Given the description of an element on the screen output the (x, y) to click on. 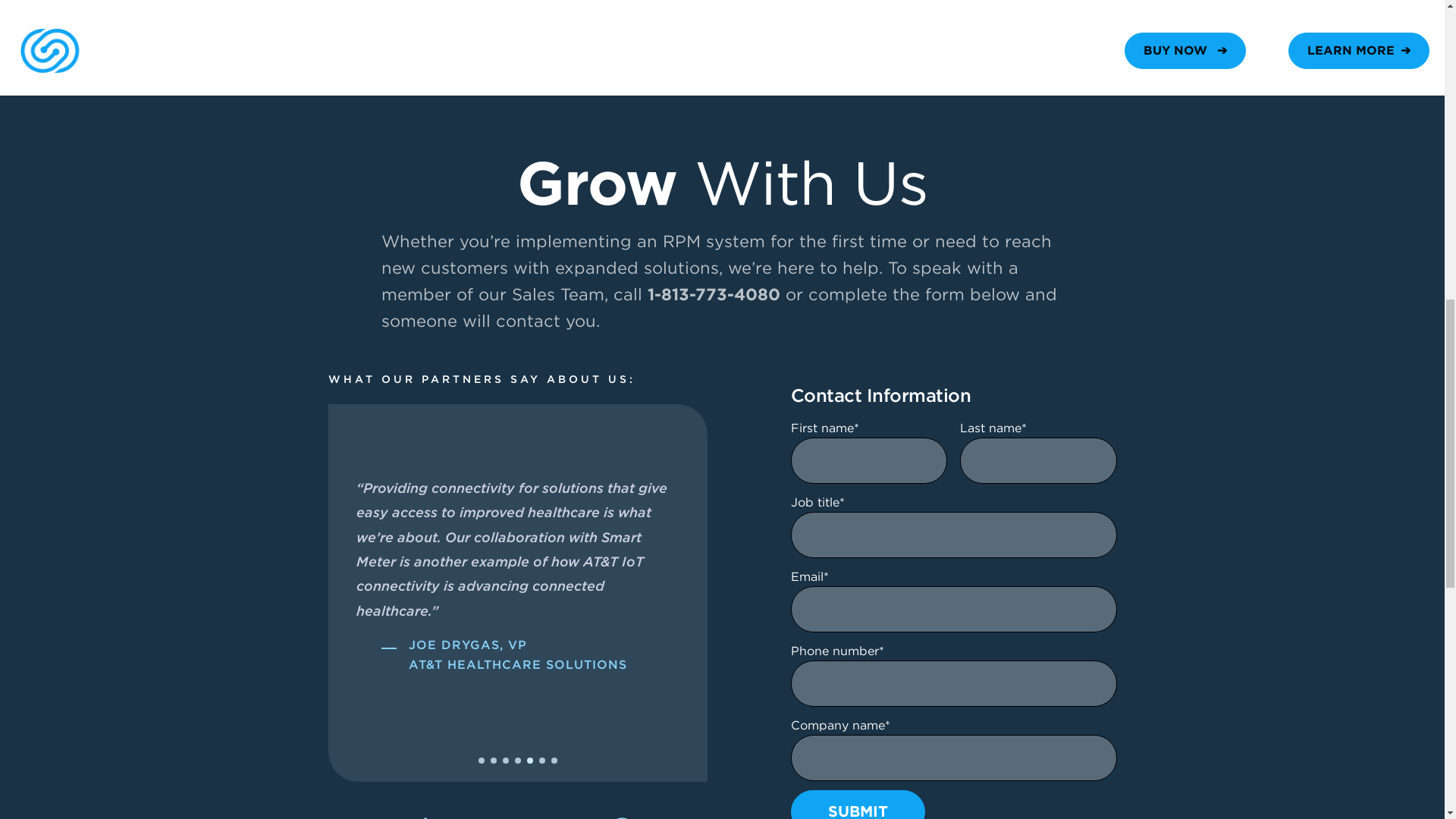
Submit (857, 804)
